Given the description of an element on the screen output the (x, y) to click on. 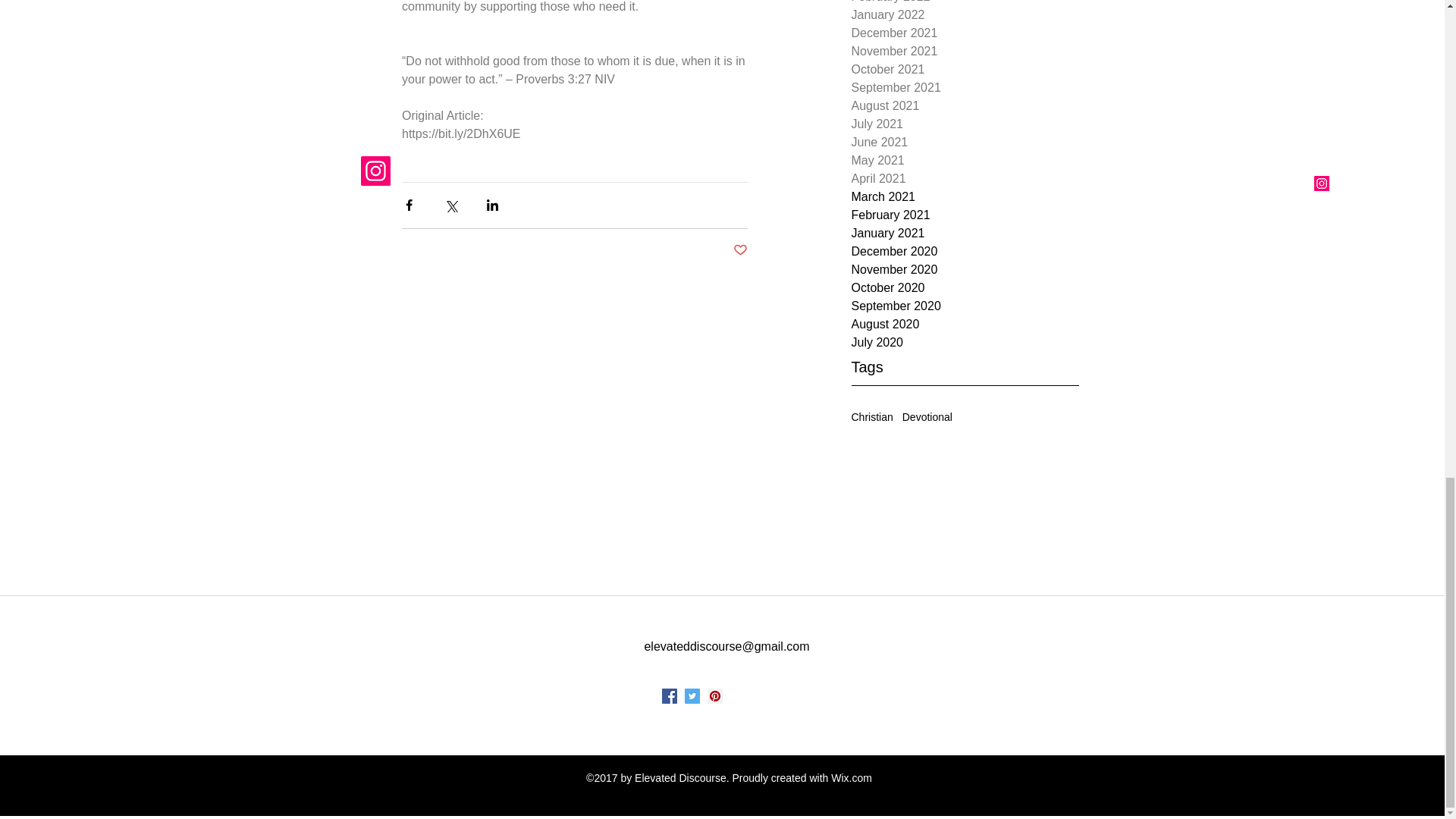
November 2021 (964, 51)
October 2021 (964, 69)
December 2021 (964, 33)
January 2022 (964, 14)
February 2022 (964, 2)
